Given the description of an element on the screen output the (x, y) to click on. 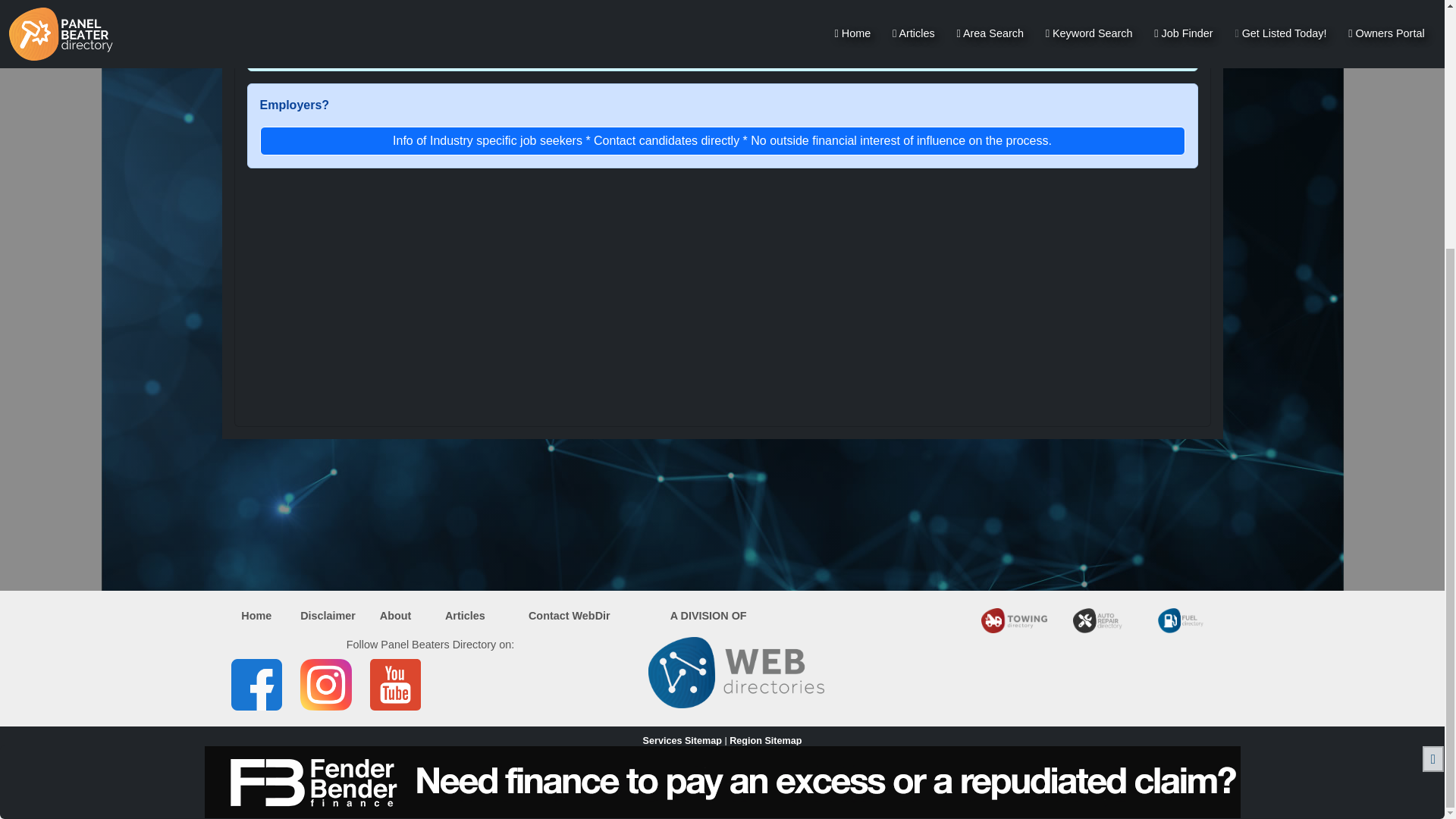
Contact WebDir (569, 615)
Web Directories (766, 780)
About (396, 615)
Services Sitemap (682, 740)
Fender Bender Vehicle Repair Finance (722, 432)
Articles (464, 615)
Disclaimer (327, 615)
Home (255, 615)
Submit your CV here (722, 43)
Region Sitemap (765, 740)
